Given the description of an element on the screen output the (x, y) to click on. 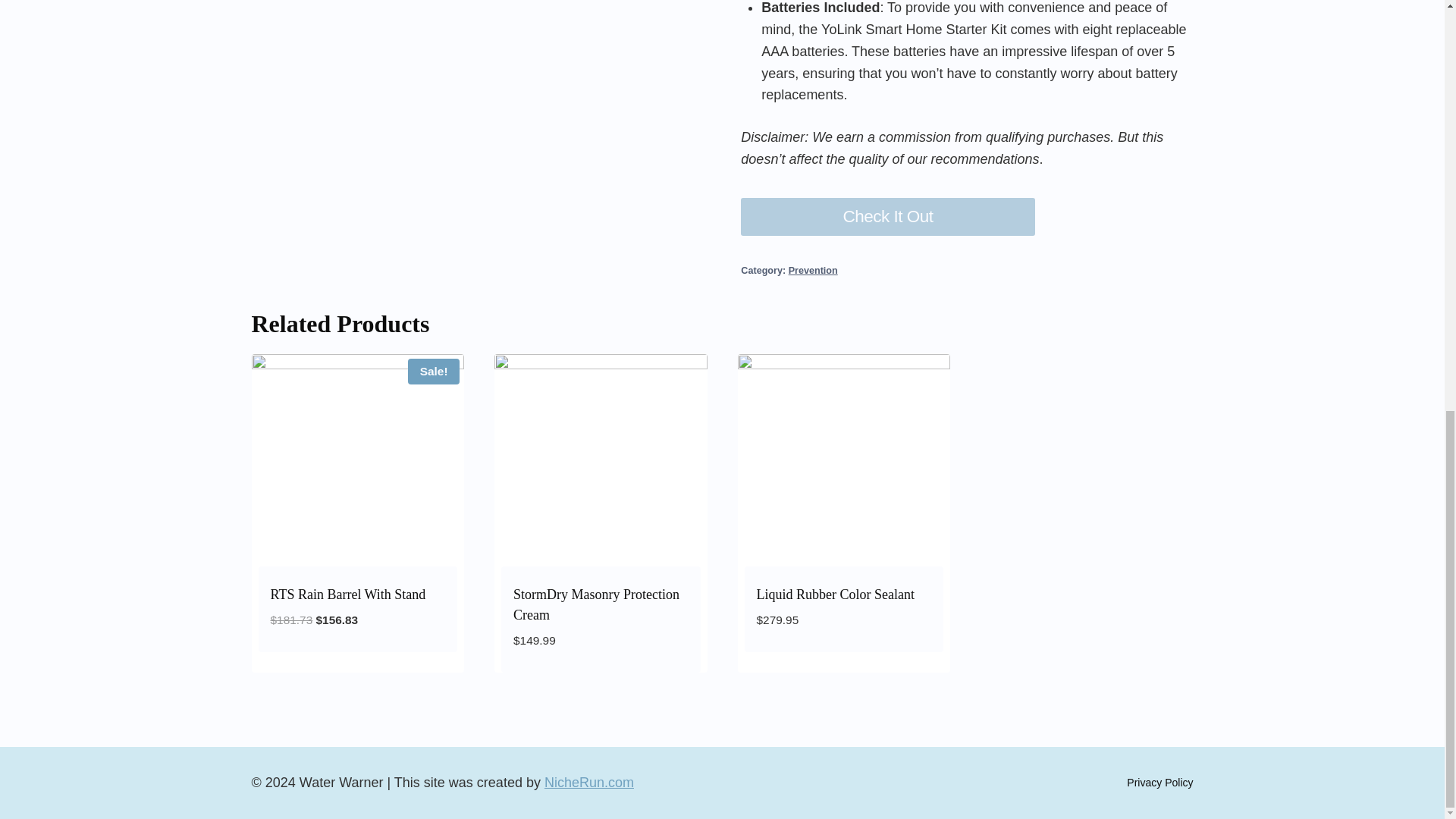
Sale! (357, 460)
Privacy Policy (1159, 782)
NicheRun.com (588, 782)
Liquid Rubber Color Sealant (835, 594)
RTS Rain Barrel With Stand (347, 594)
StormDry Masonry Protection Cream (596, 604)
Prevention (813, 270)
Check It Out (888, 216)
